Given the description of an element on the screen output the (x, y) to click on. 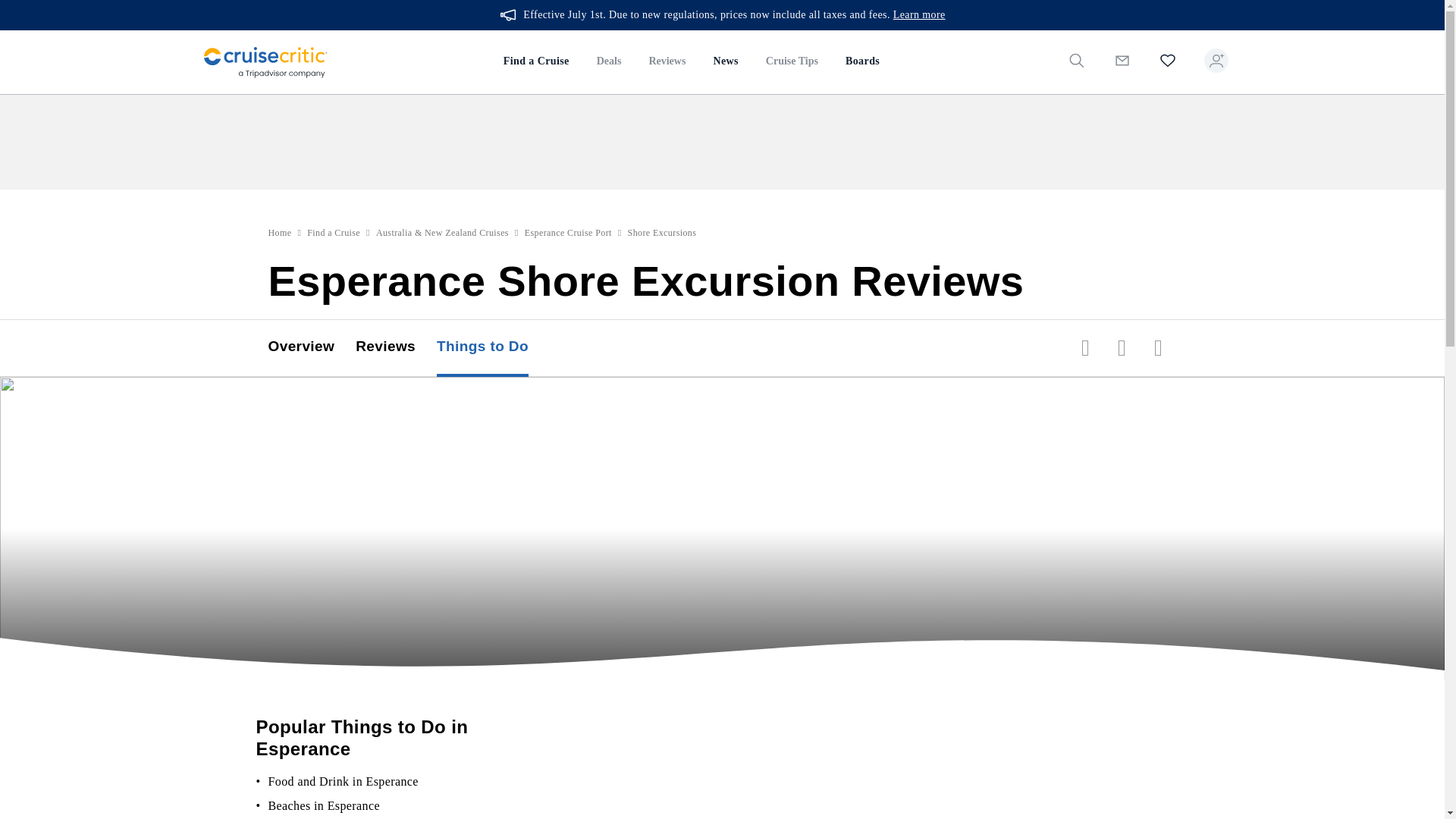
Boards (19, 166)
Home (279, 520)
Learn more (463, 26)
Overview (310, 635)
Sign in or sign up (47, 277)
Find a Cruise (35, 75)
Shore Excursions (668, 520)
Deals (15, 94)
Find a Cruise (334, 520)
Esperance Cruise Port (571, 520)
